Given the description of an element on the screen output the (x, y) to click on. 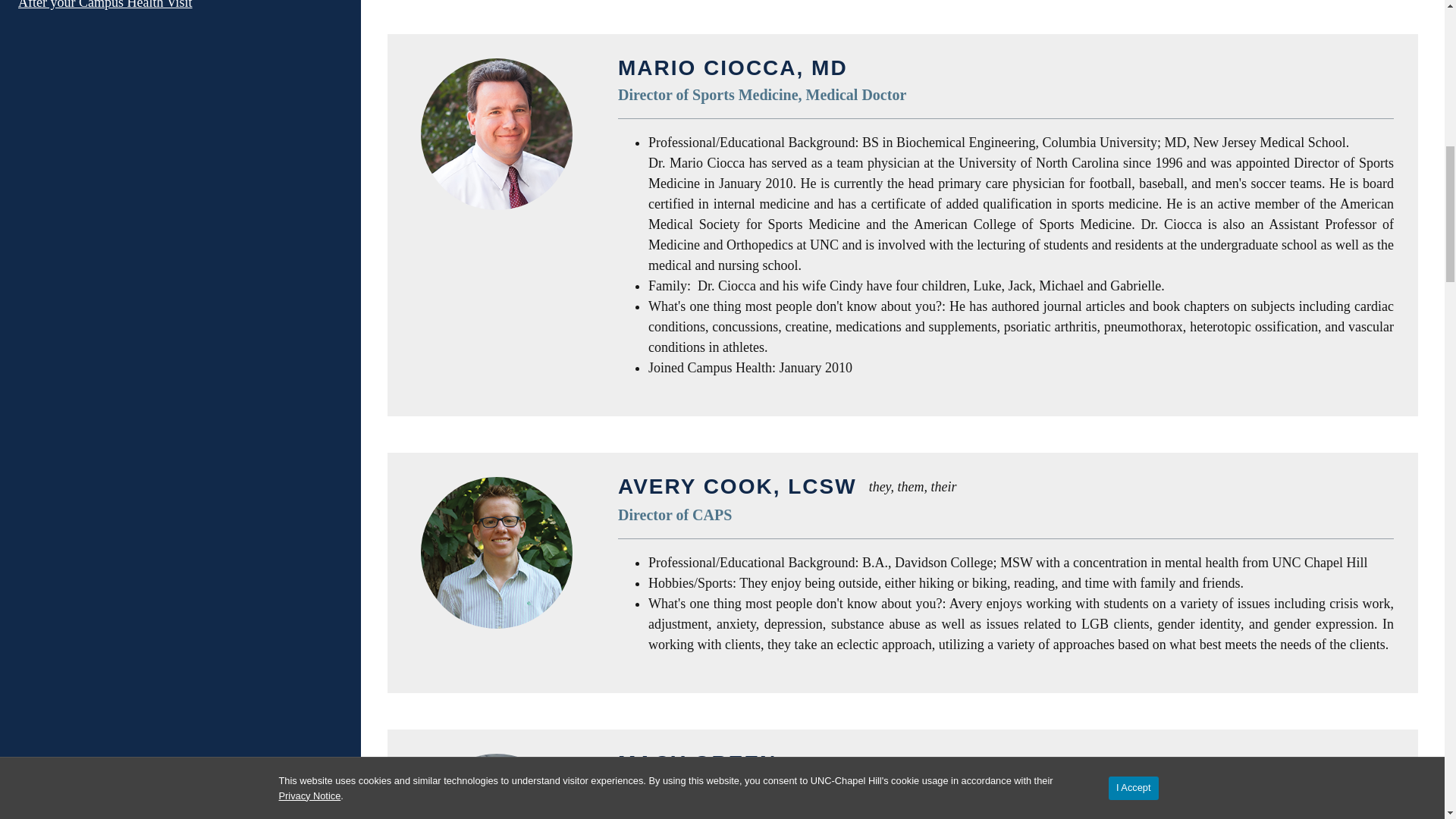
Email (1283, 793)
